Given the description of an element on the screen output the (x, y) to click on. 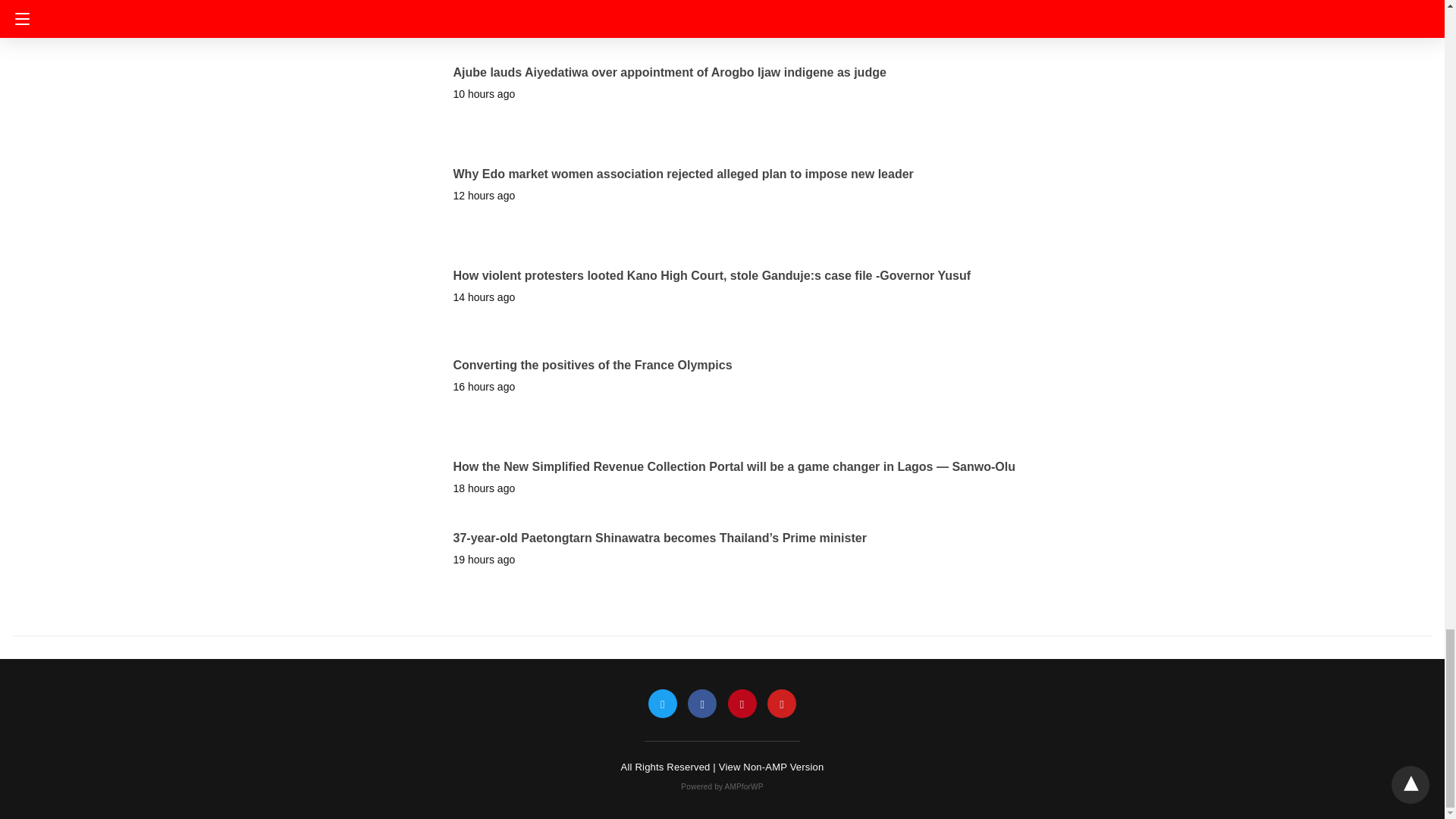
Converting the positives of the France Olympics (592, 364)
First National Transporters Game set to hold in Ogun (606, 10)
First National Transporters Game set to hold in Ogun (606, 10)
